Given the description of an element on the screen output the (x, y) to click on. 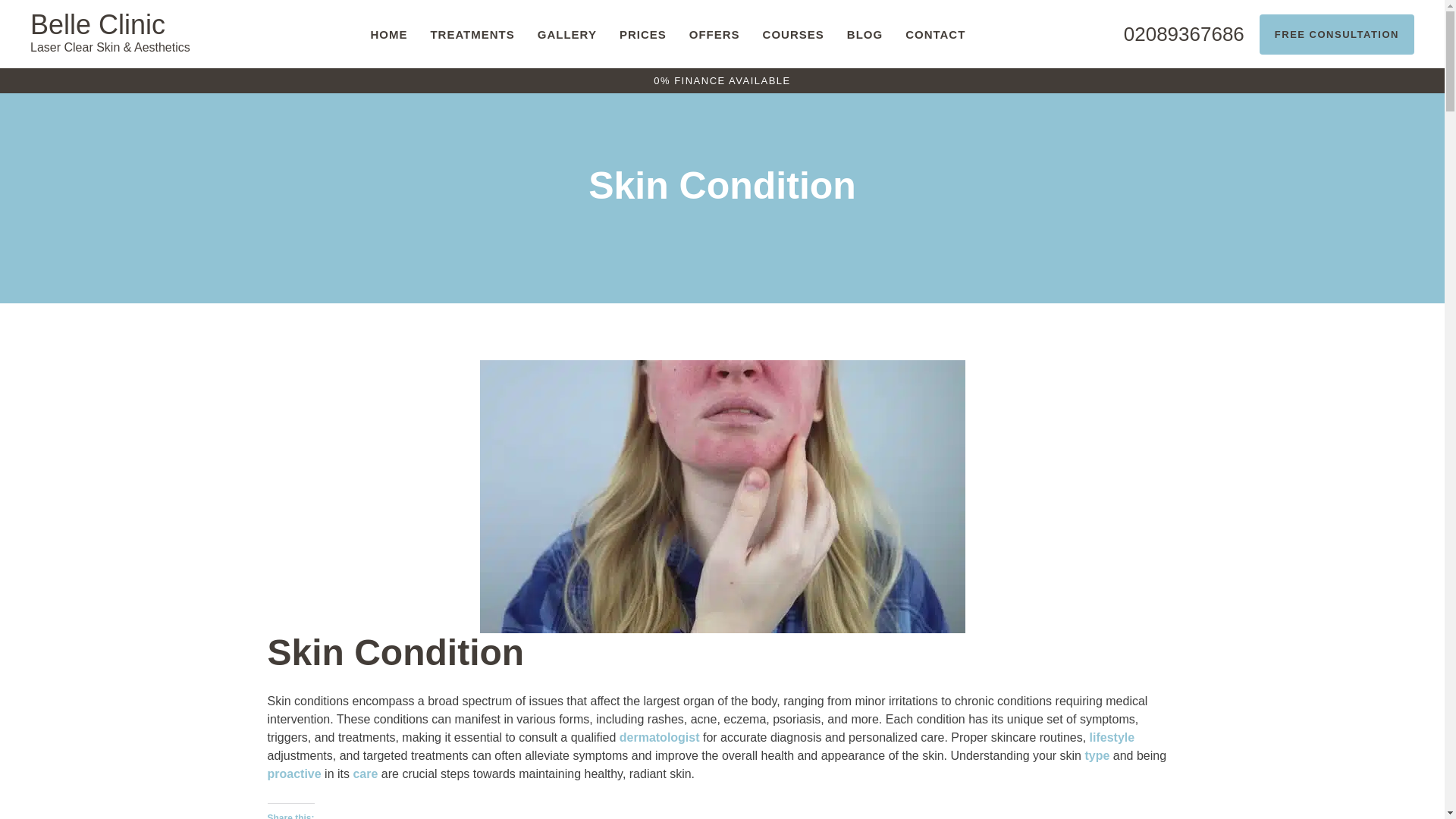
GALLERY (566, 34)
HOME (388, 34)
PRICES (643, 34)
Belle Clinic (121, 33)
TREATMENTS (471, 34)
rosacea 6 (721, 623)
